Given the description of an element on the screen output the (x, y) to click on. 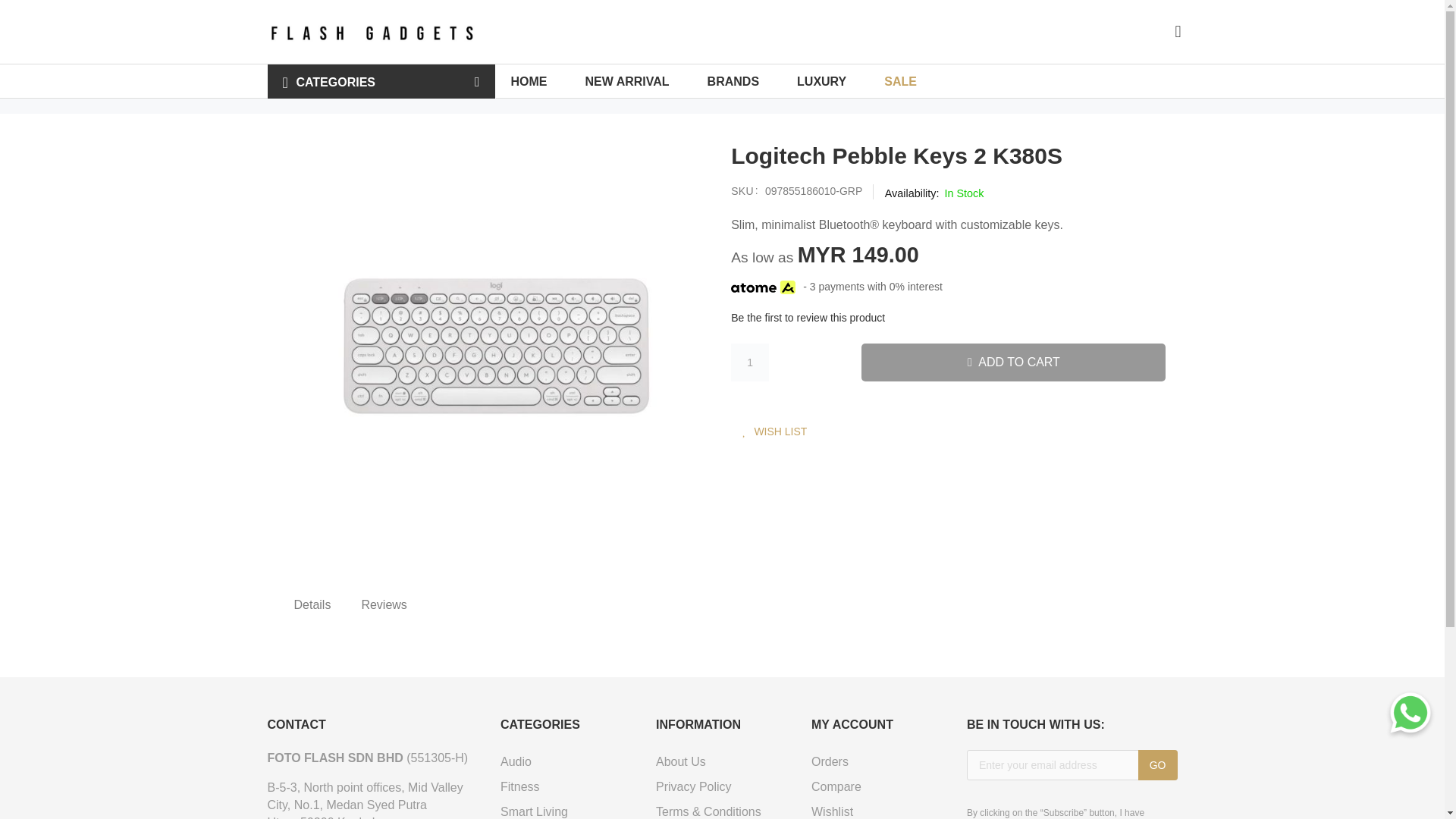
Flash Gadgets (370, 31)
Wish List (774, 430)
Qty (749, 362)
Availability (934, 193)
Add to Cart (1013, 362)
1 (749, 362)
